Given the description of an element on the screen output the (x, y) to click on. 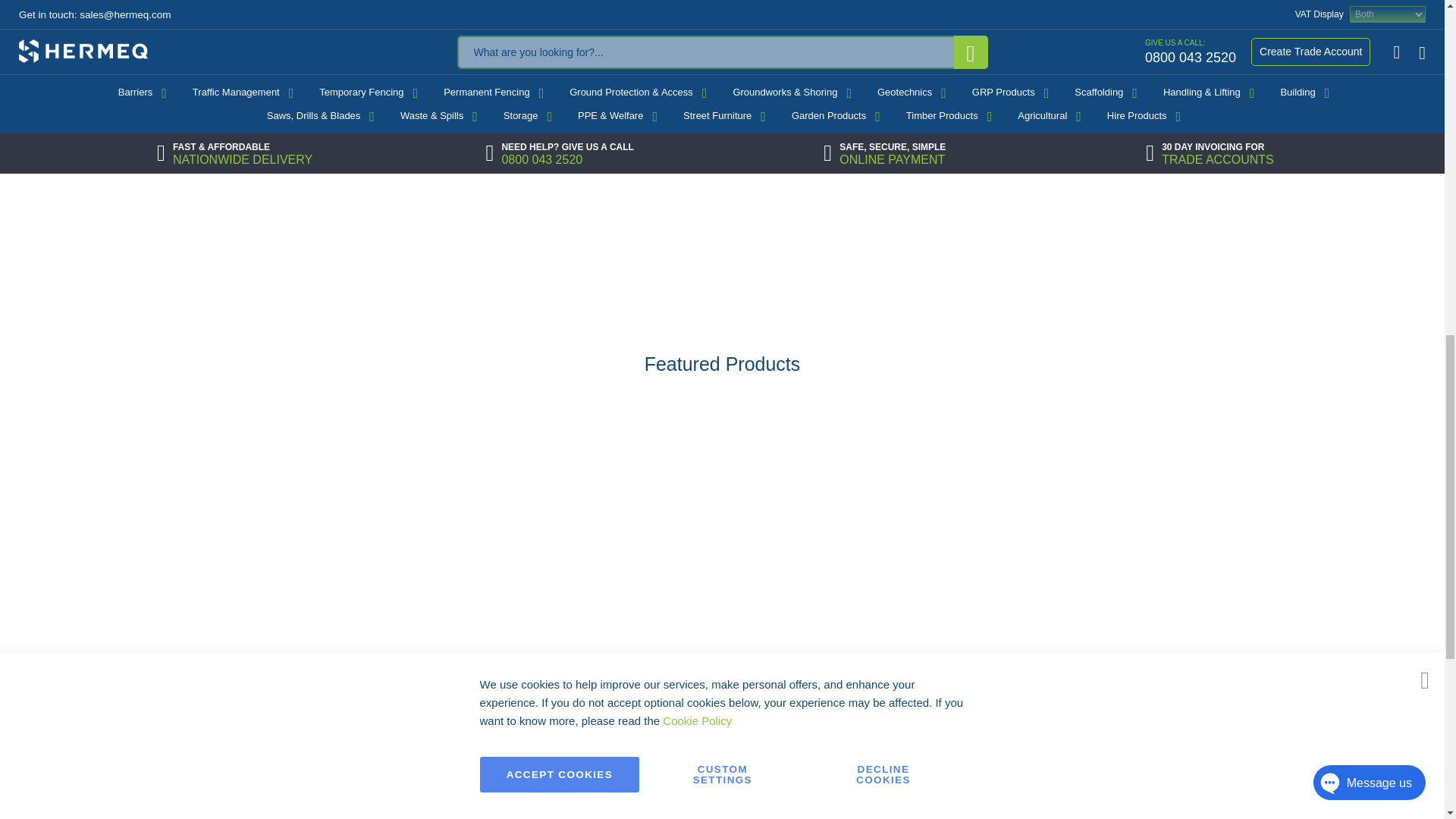
1 (734, 814)
